Given the description of an element on the screen output the (x, y) to click on. 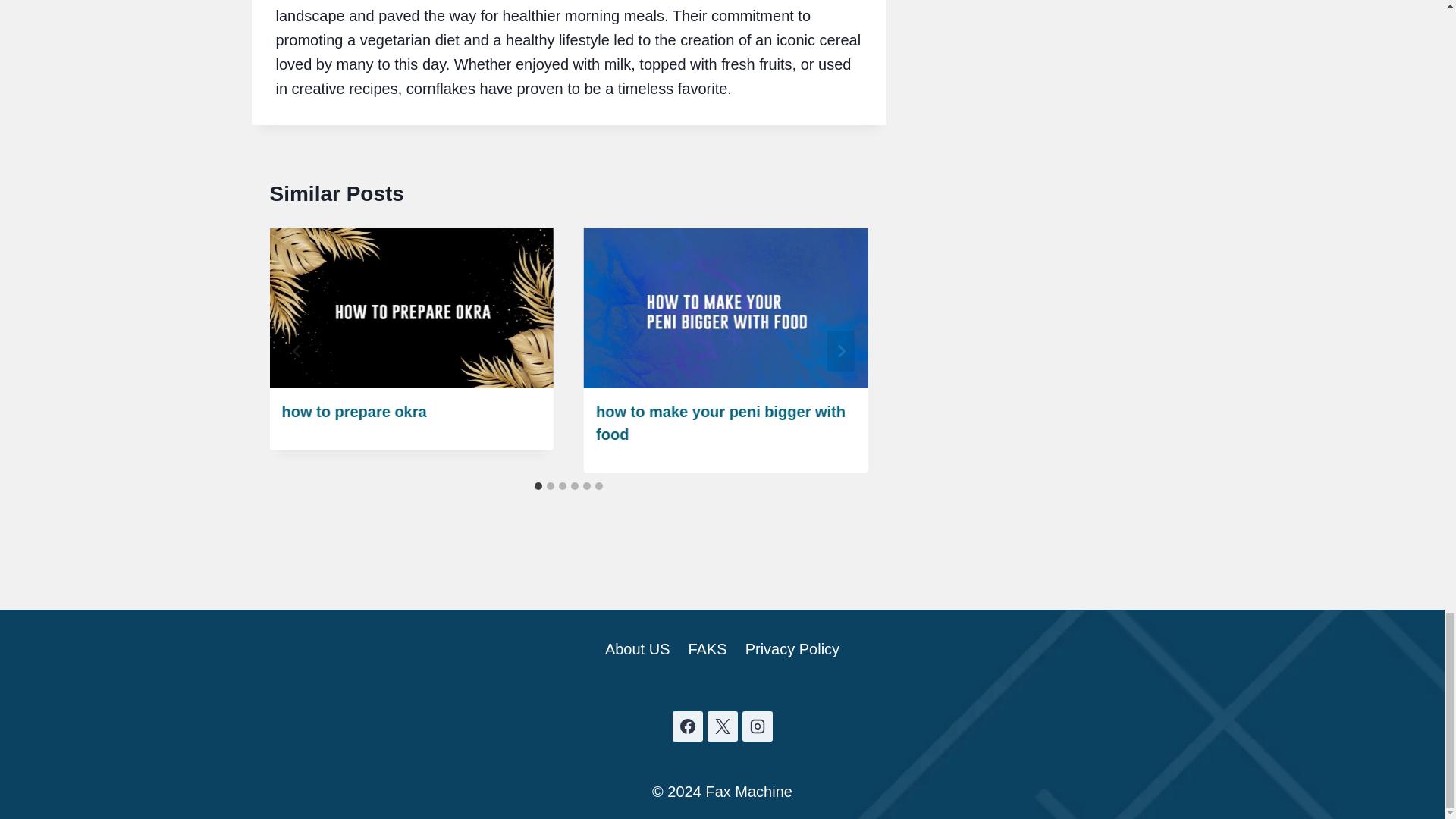
how to make your peni bigger with food (720, 423)
how to prepare okra (354, 411)
